Given the description of an element on the screen output the (x, y) to click on. 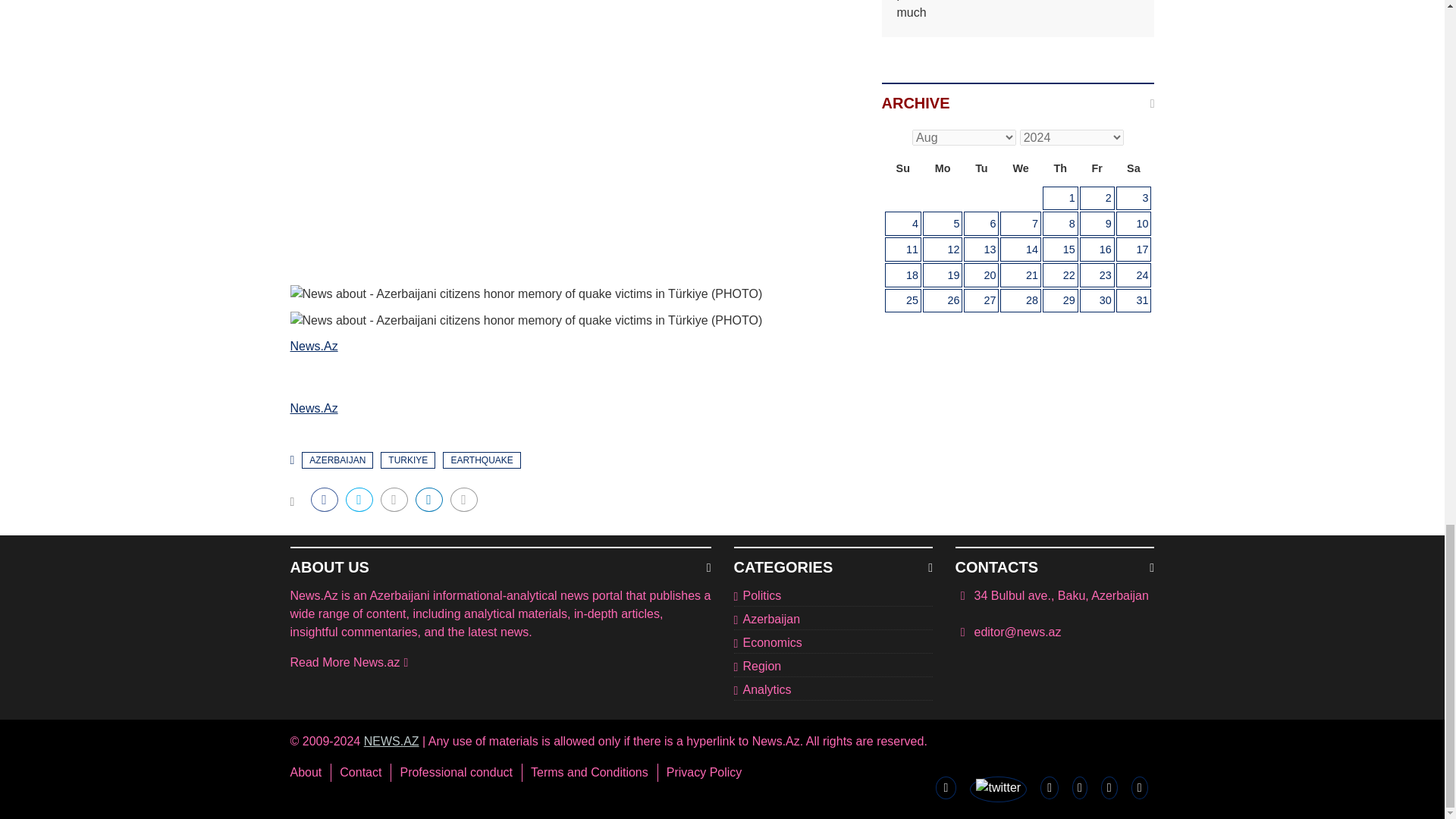
EARTHQUAKE (480, 460)
News.Az (313, 408)
News.Az (313, 345)
TURKIYE (407, 460)
AZERBAIJAN (336, 460)
